Given the description of an element on the screen output the (x, y) to click on. 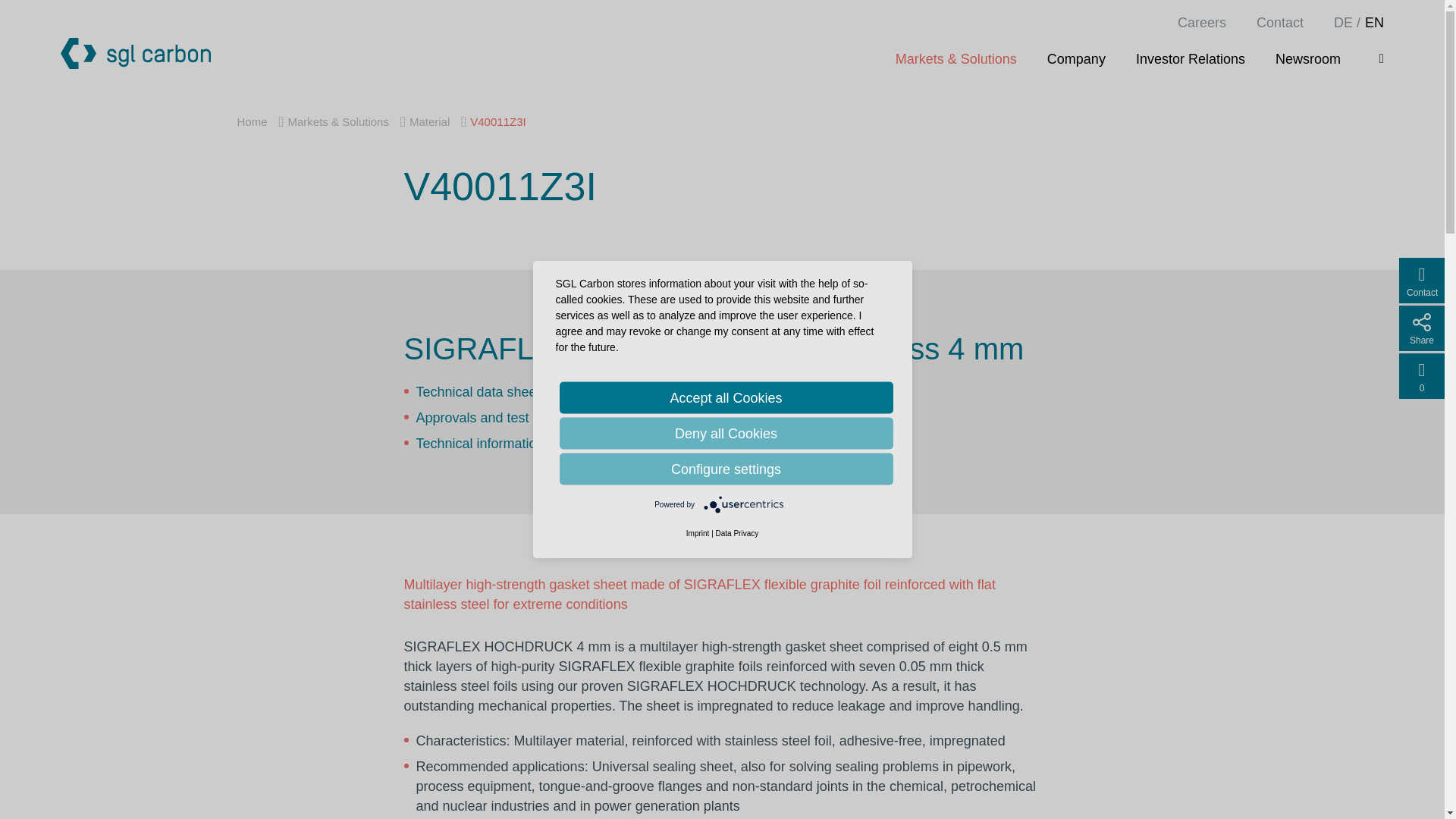
Contact (1279, 22)
Careers (1201, 22)
Company (1075, 58)
DE (1342, 22)
